Given the description of an element on the screen output the (x, y) to click on. 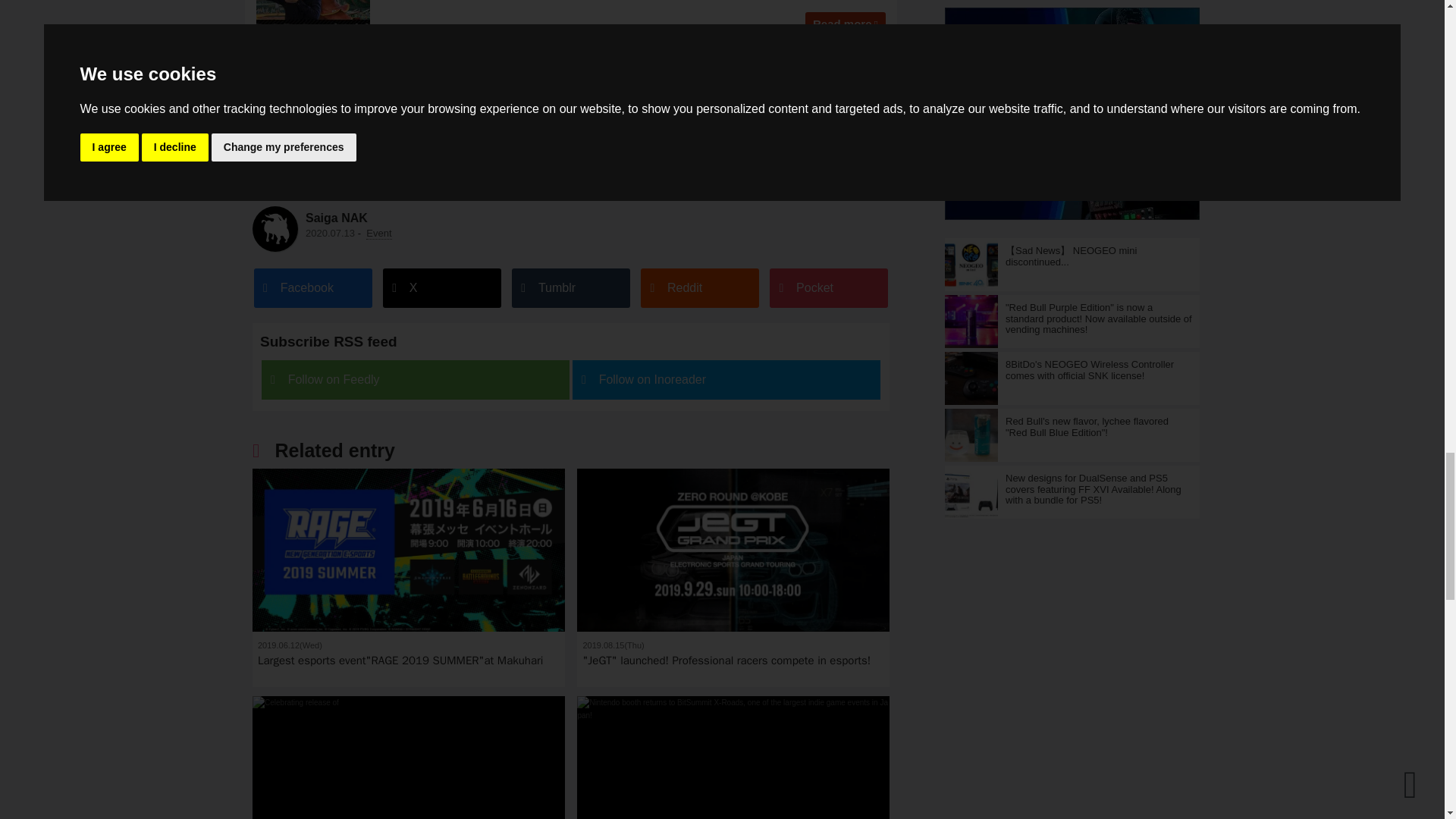
Largest esports event (407, 577)
Read more (845, 24)
Nintendo (278, 183)
Celebrating release of  (407, 757)
Largest esports event (407, 550)
